Given the description of an element on the screen output the (x, y) to click on. 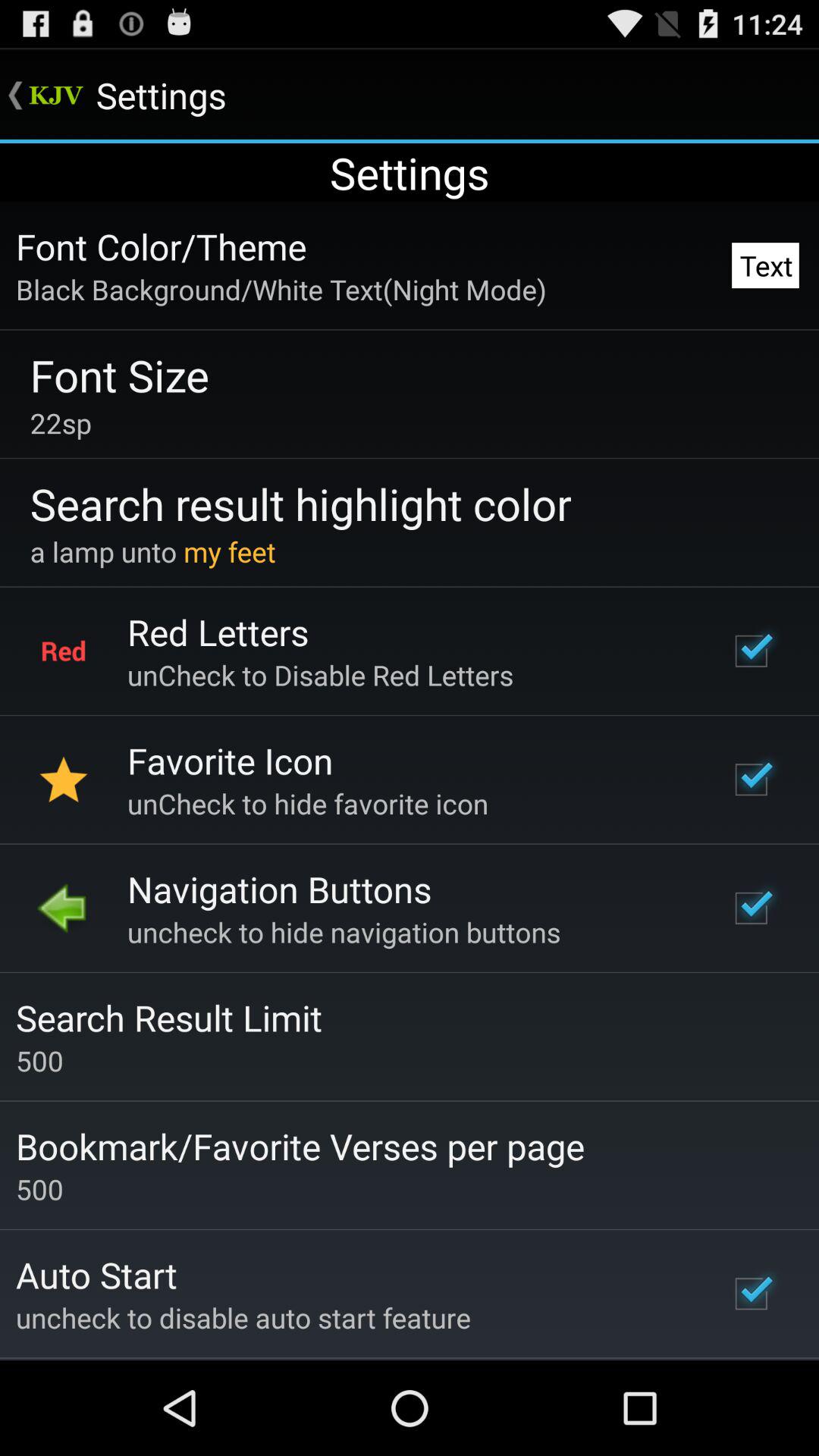
choose icon below the black background white (119, 374)
